Given the description of an element on the screen output the (x, y) to click on. 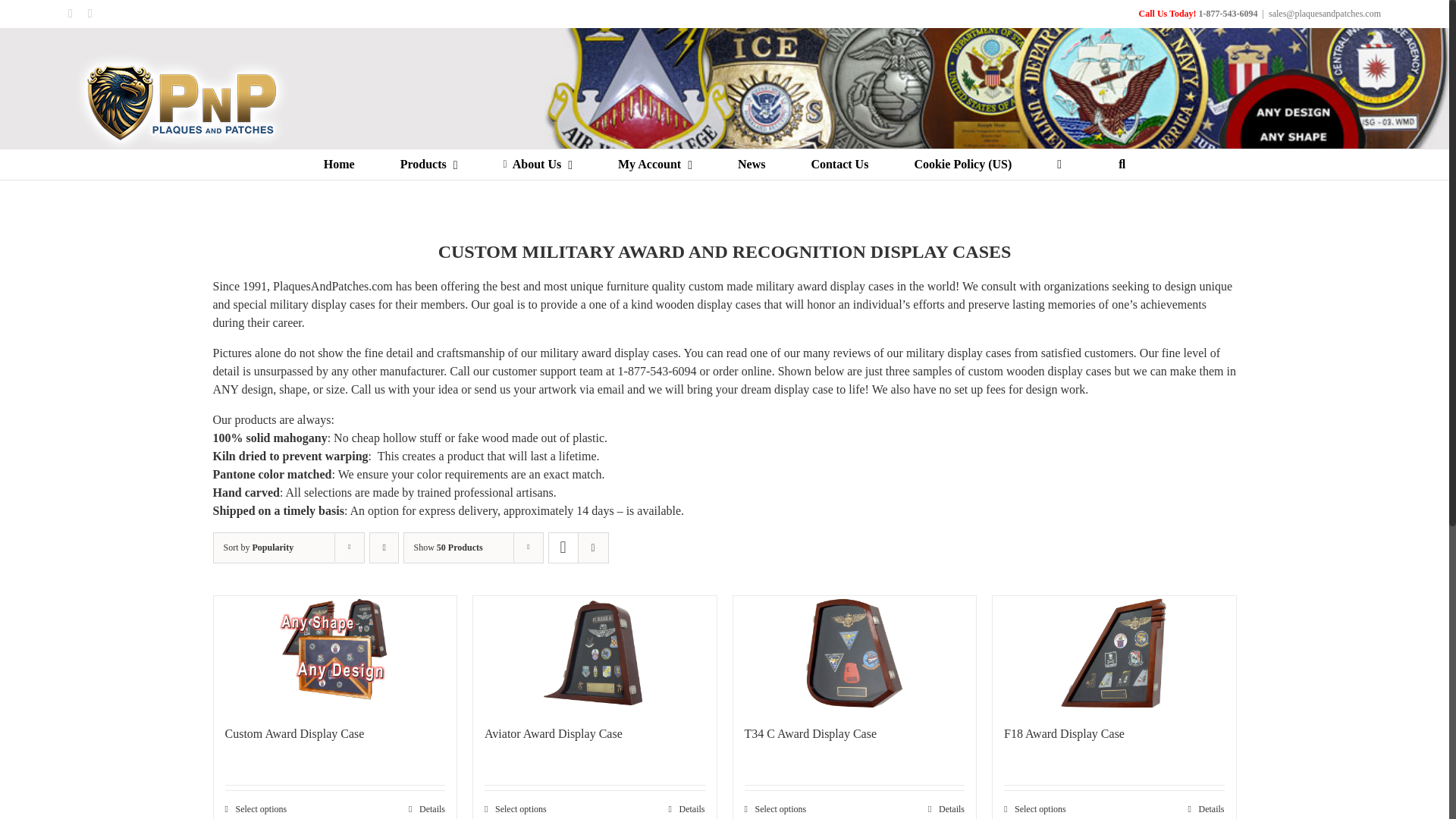
Home (338, 164)
Products (429, 164)
1-877-543-6094 (1227, 13)
